Given the description of an element on the screen output the (x, y) to click on. 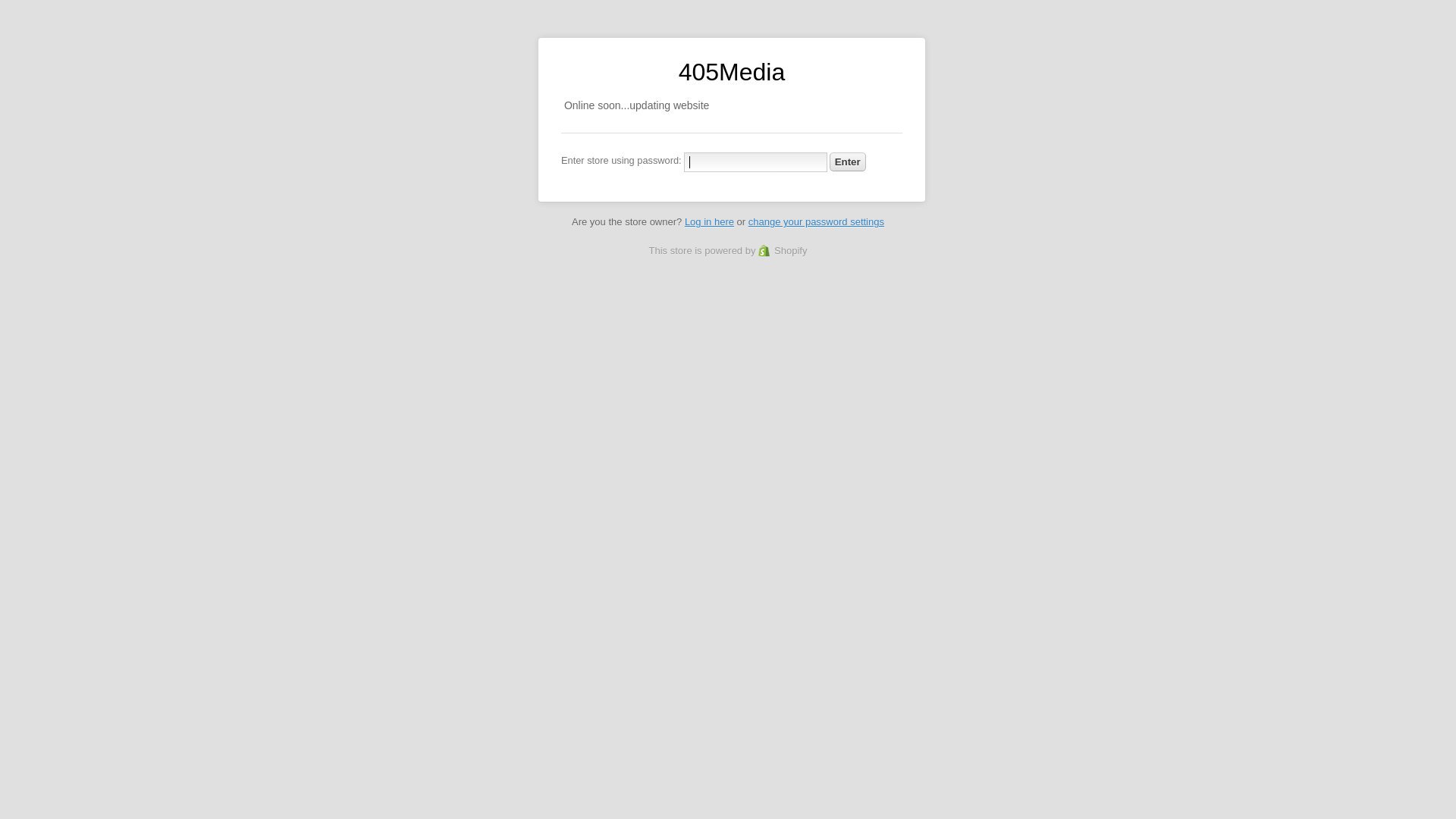
Shopify Element type: text (782, 250)
Enter Element type: text (847, 161)
Log in here Element type: text (709, 221)
change your password settings Element type: text (816, 221)
